Given the description of an element on the screen output the (x, y) to click on. 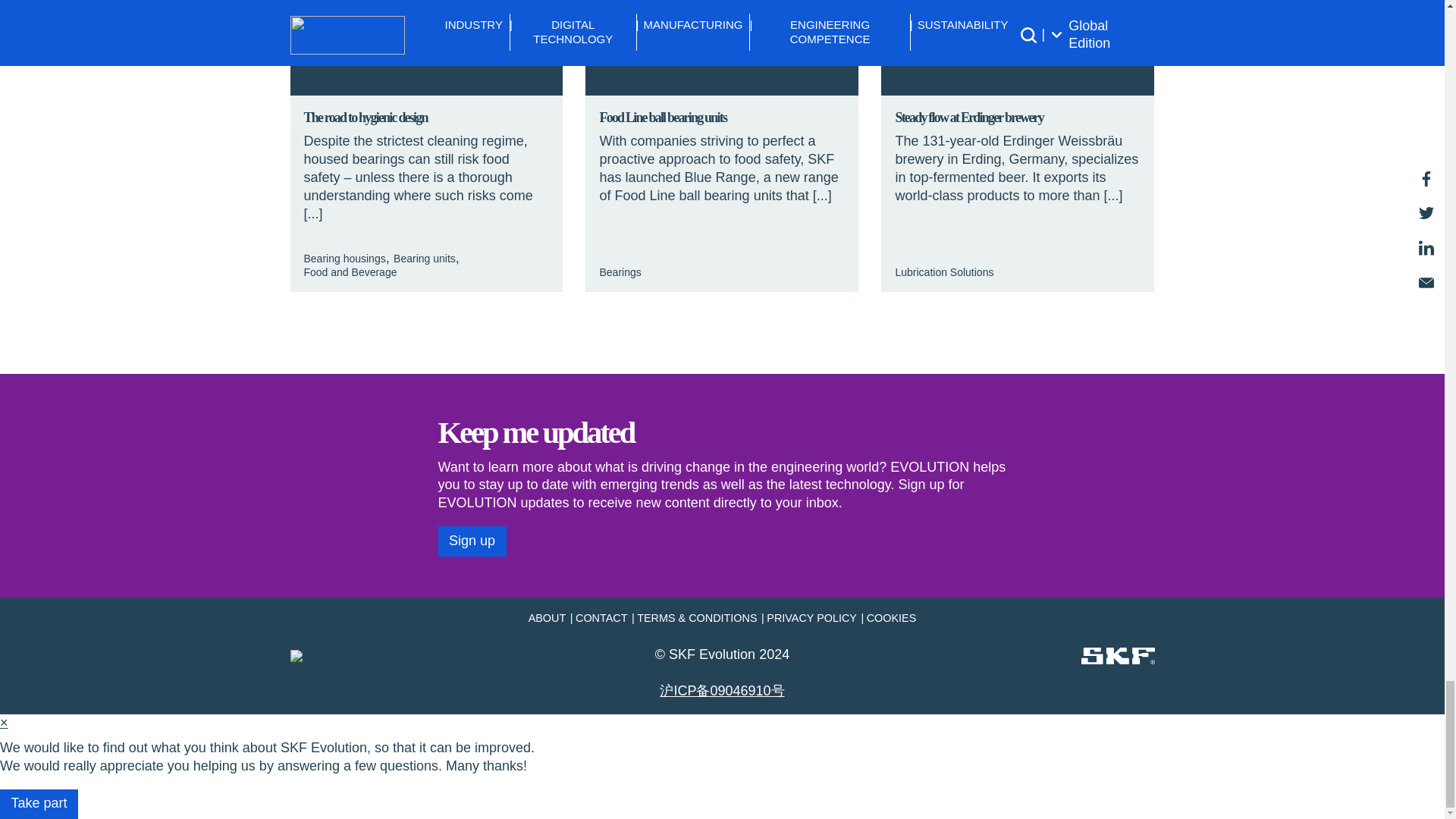
ABOUT (546, 617)
PRIVACY POLICY (811, 617)
Bearing units (424, 258)
Lubrication Solutions (943, 272)
Bearing housings (343, 258)
Bearings (619, 272)
Sign up (472, 541)
Food and Beverage (349, 272)
COOKIES (891, 617)
CONTACT (601, 617)
